Given the description of an element on the screen output the (x, y) to click on. 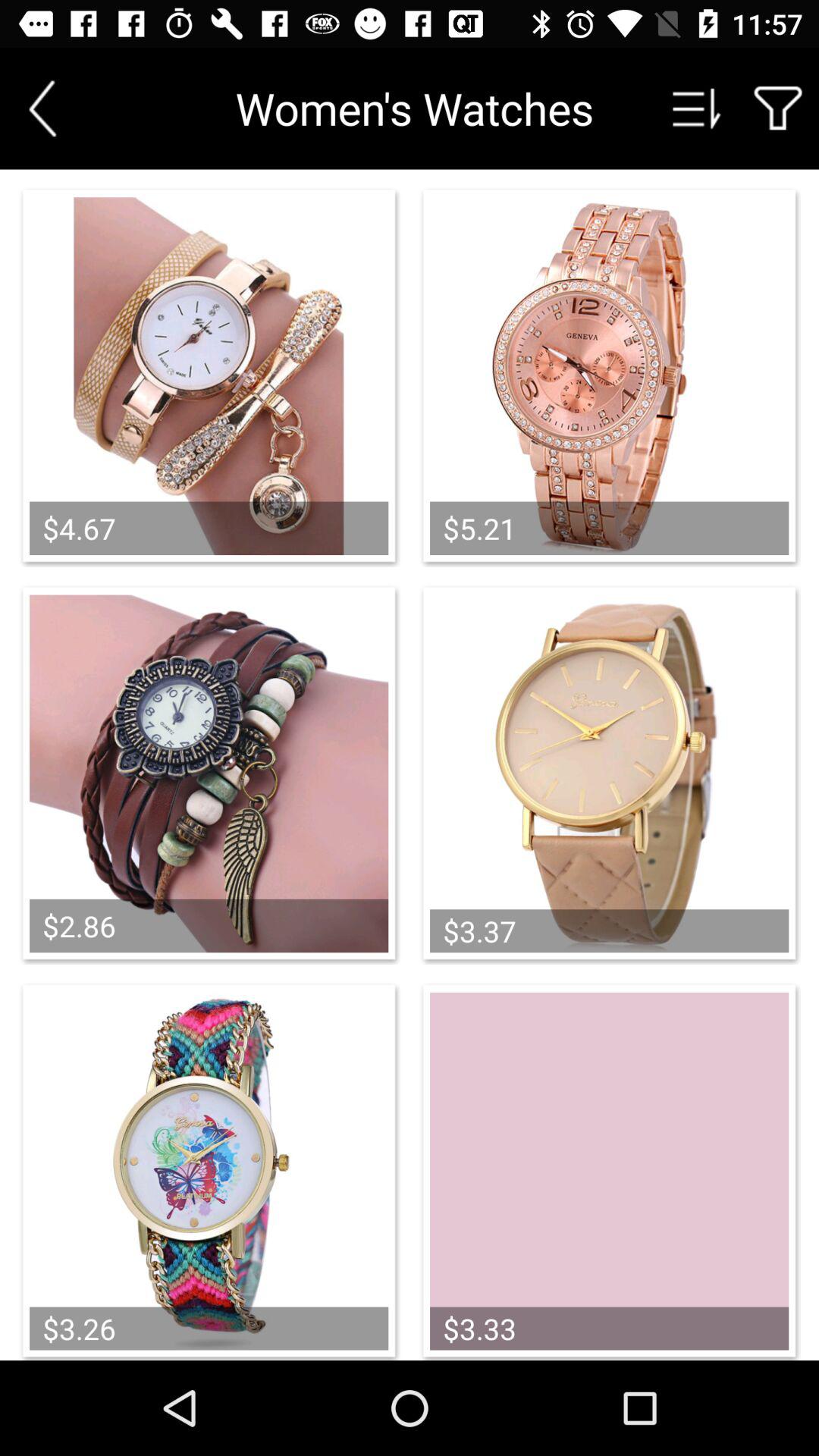
sort (696, 108)
